Given the description of an element on the screen output the (x, y) to click on. 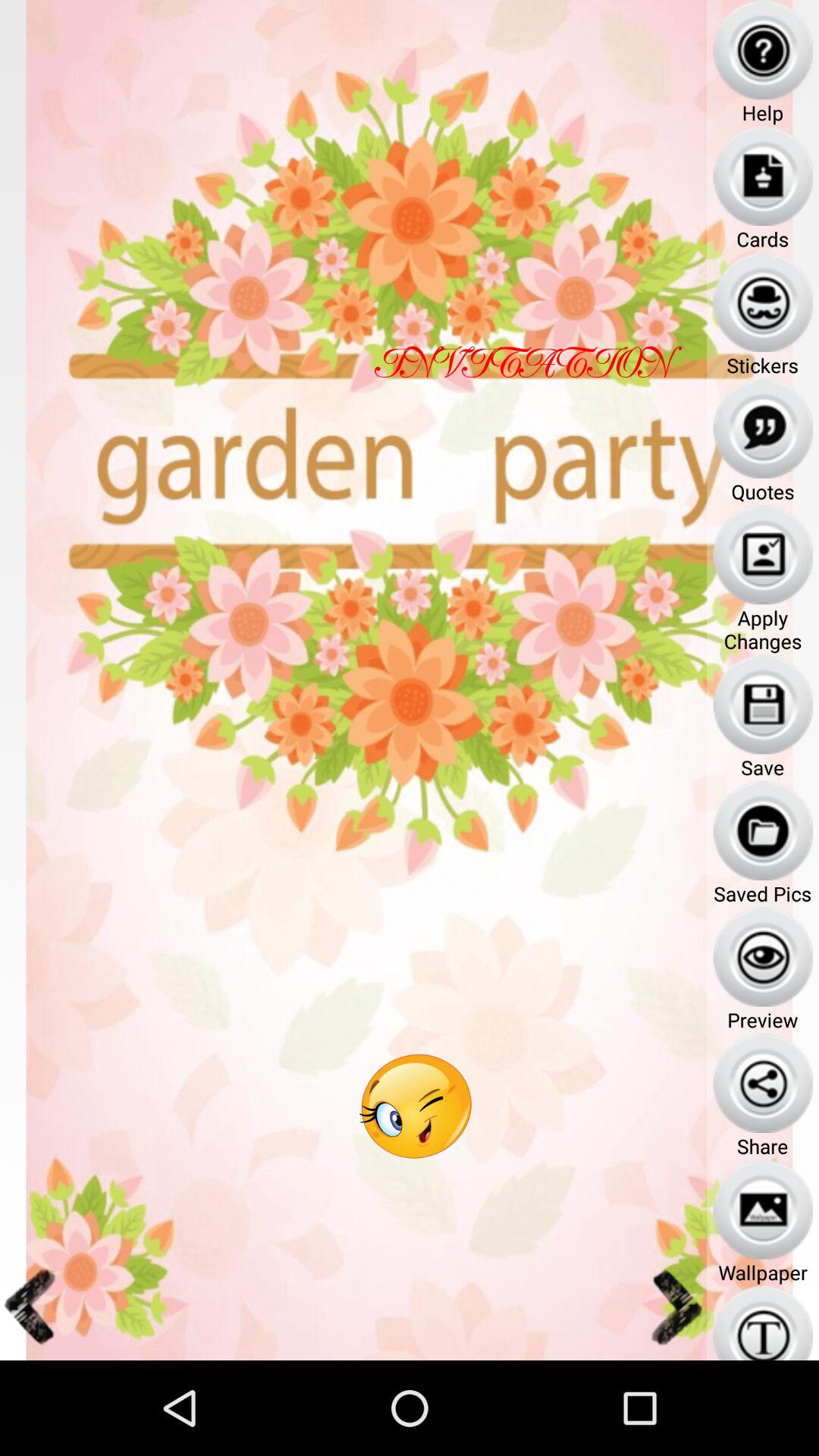
click the item above the quotes icon (762, 428)
